Given the description of an element on the screen output the (x, y) to click on. 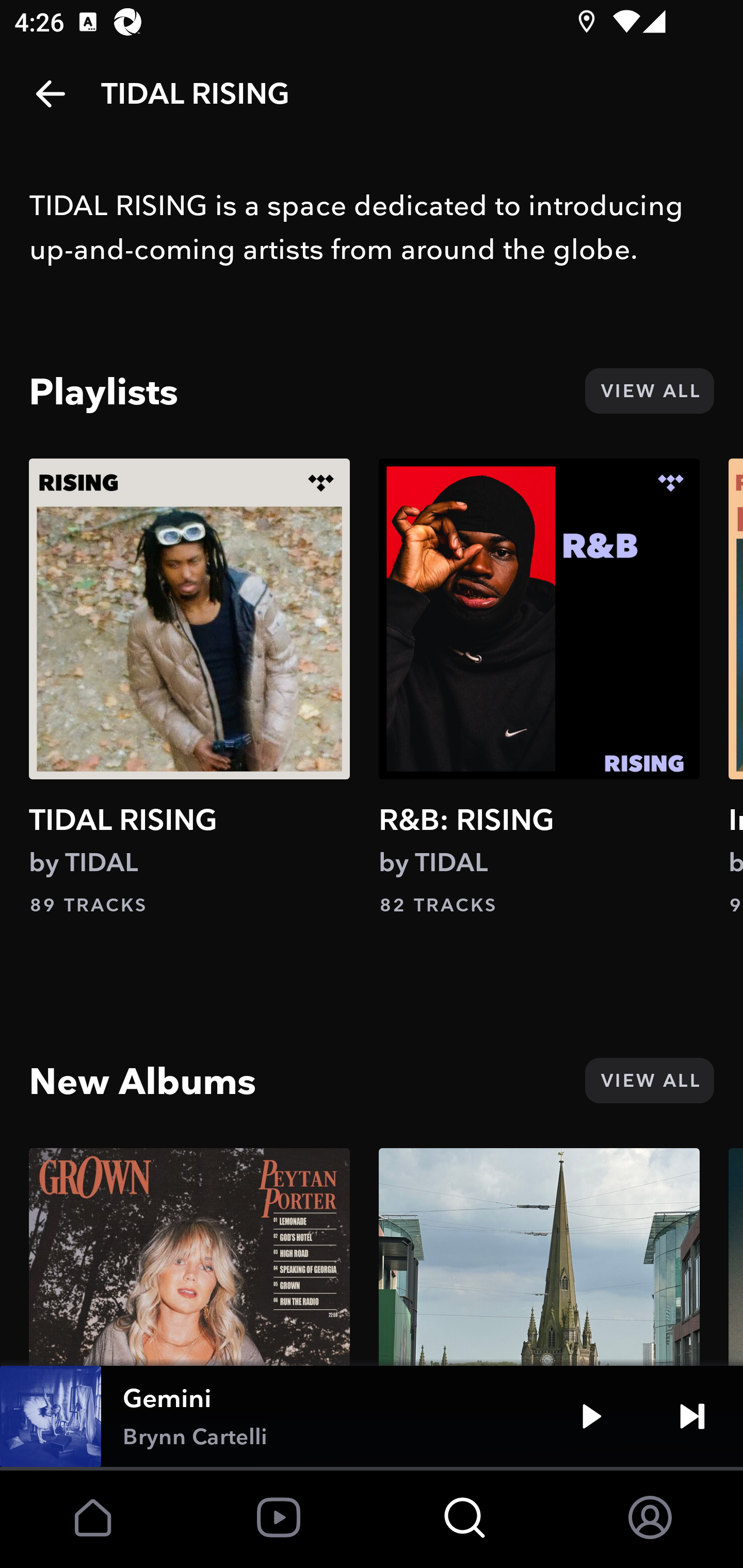
VIEW ALL (649, 390)
TIDAL RISING by TIDAL 89 TRACKS (188, 687)
R&B: RISING by TIDAL 82 TRACKS (538, 687)
VIEW ALL (649, 1080)
Gemini Brynn Cartelli Play (371, 1416)
Play (590, 1416)
